Given the description of an element on the screen output the (x, y) to click on. 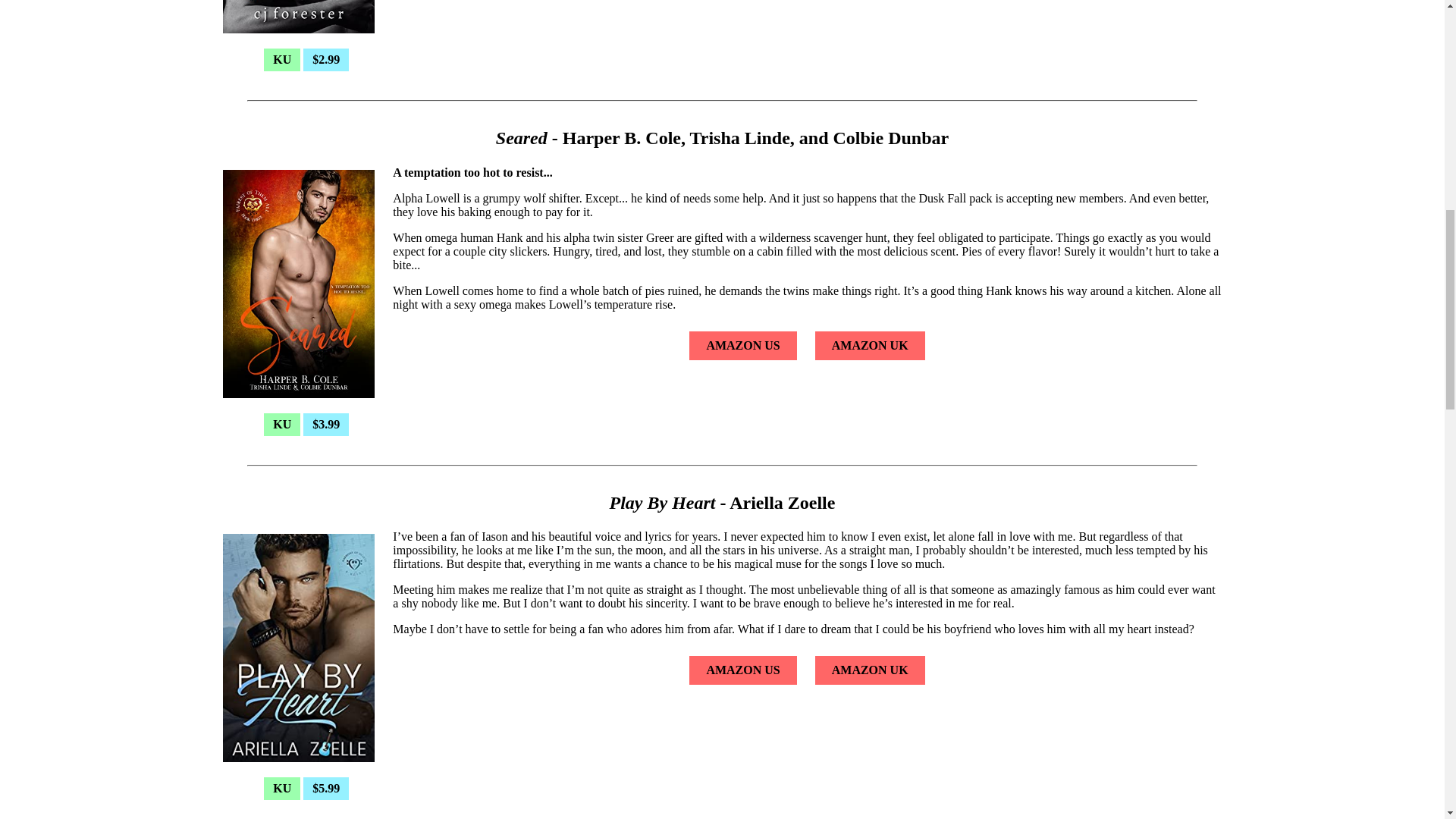
AMAZON UK (870, 669)
AMAZON UK (870, 345)
AMAZON US (742, 345)
AMAZON US (742, 669)
